Given the description of an element on the screen output the (x, y) to click on. 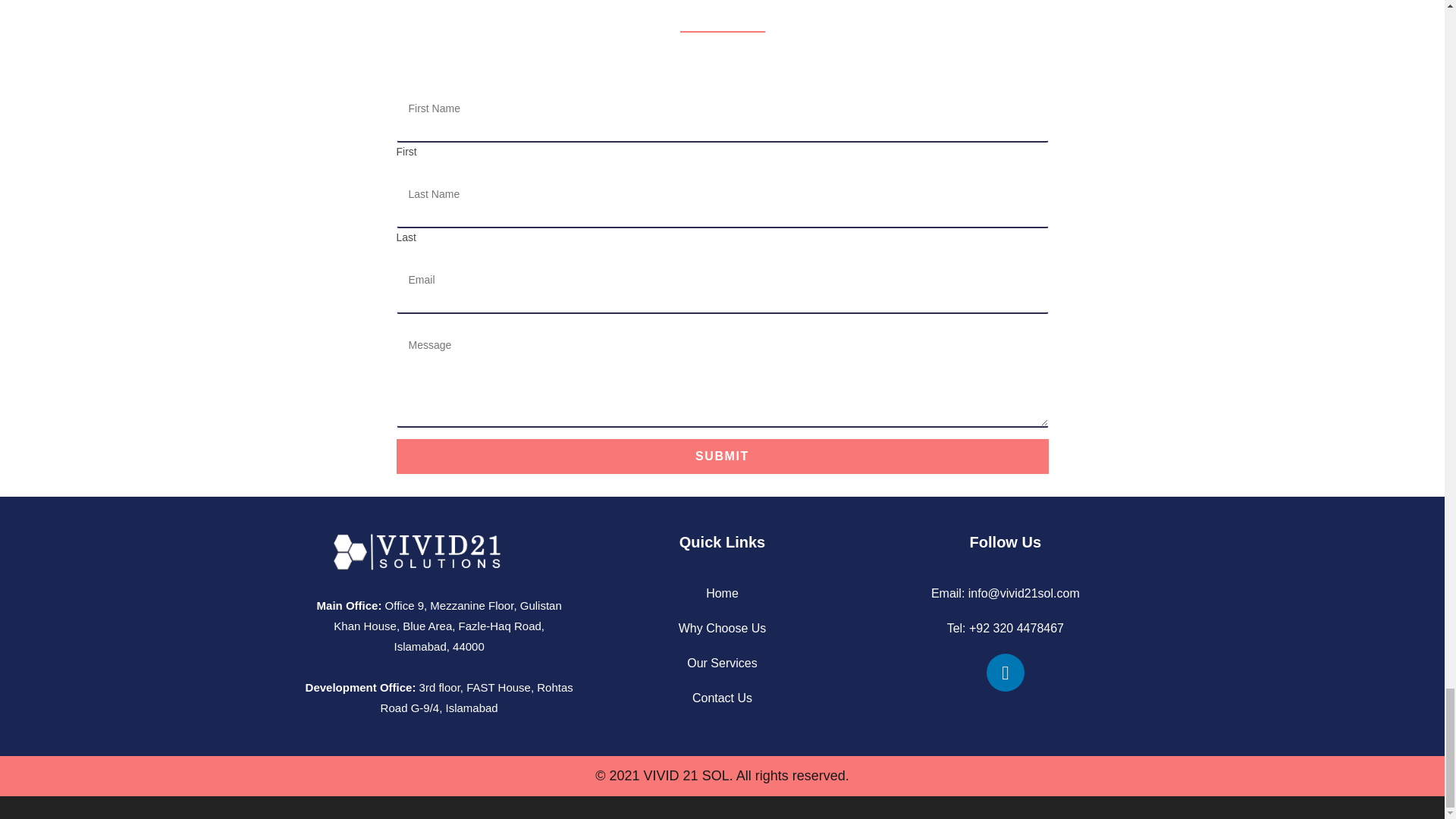
SUBMIT (722, 456)
Home (722, 593)
Why Choose Us (722, 627)
Contact Us (722, 697)
Our Services (722, 662)
